Given the description of an element on the screen output the (x, y) to click on. 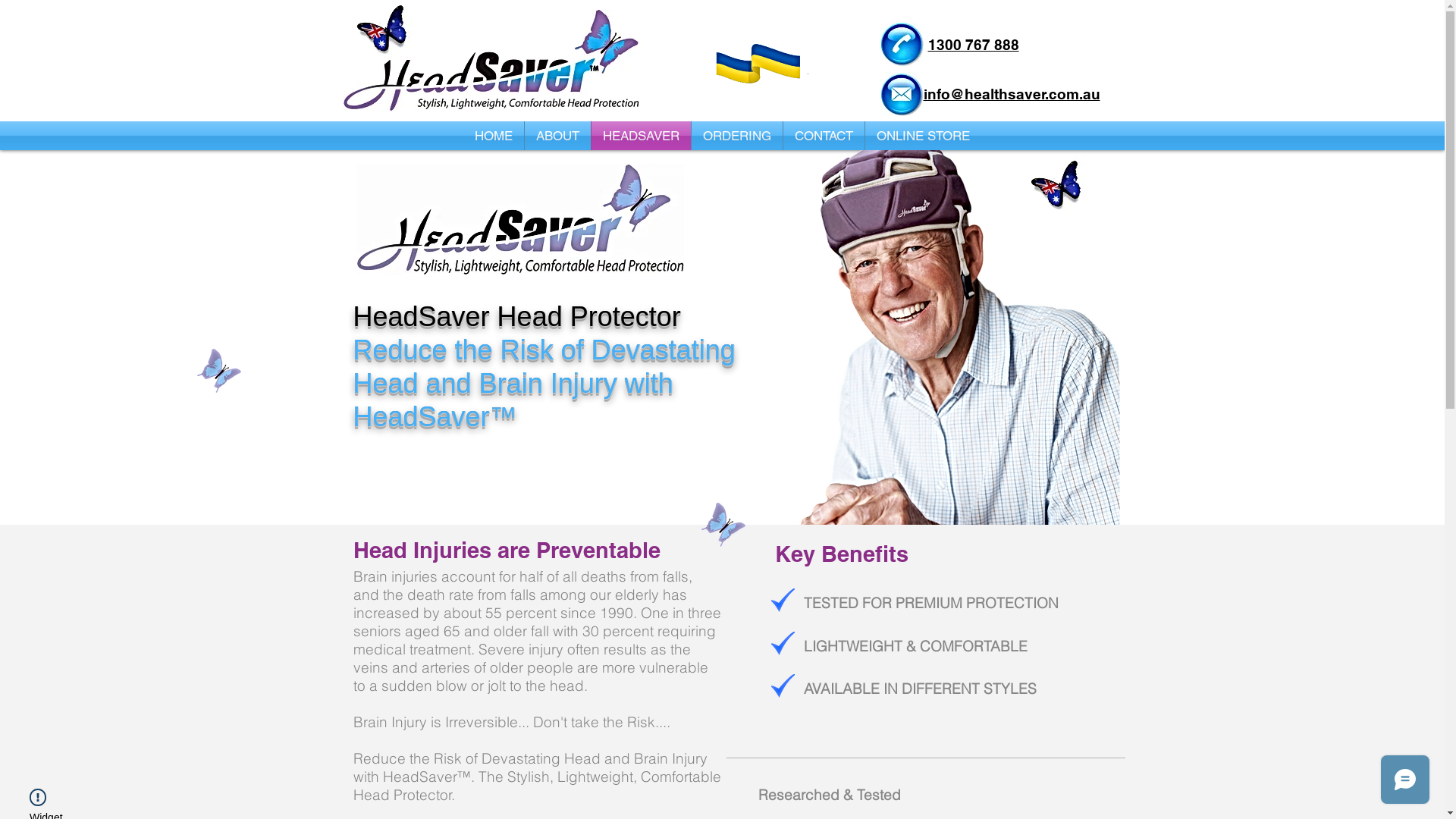
CONTACT Element type: text (823, 135)
info@healthsaver.com.au Element type: text (1011, 93)
1300 767 888 Element type: text (973, 44)
HEADSAVER Element type: text (640, 135)
ORDERING Element type: text (736, 135)
ABOUT Element type: text (557, 135)
HOME Element type: text (493, 135)
ONLINE STORE Element type: text (923, 135)
